Given the description of an element on the screen output the (x, y) to click on. 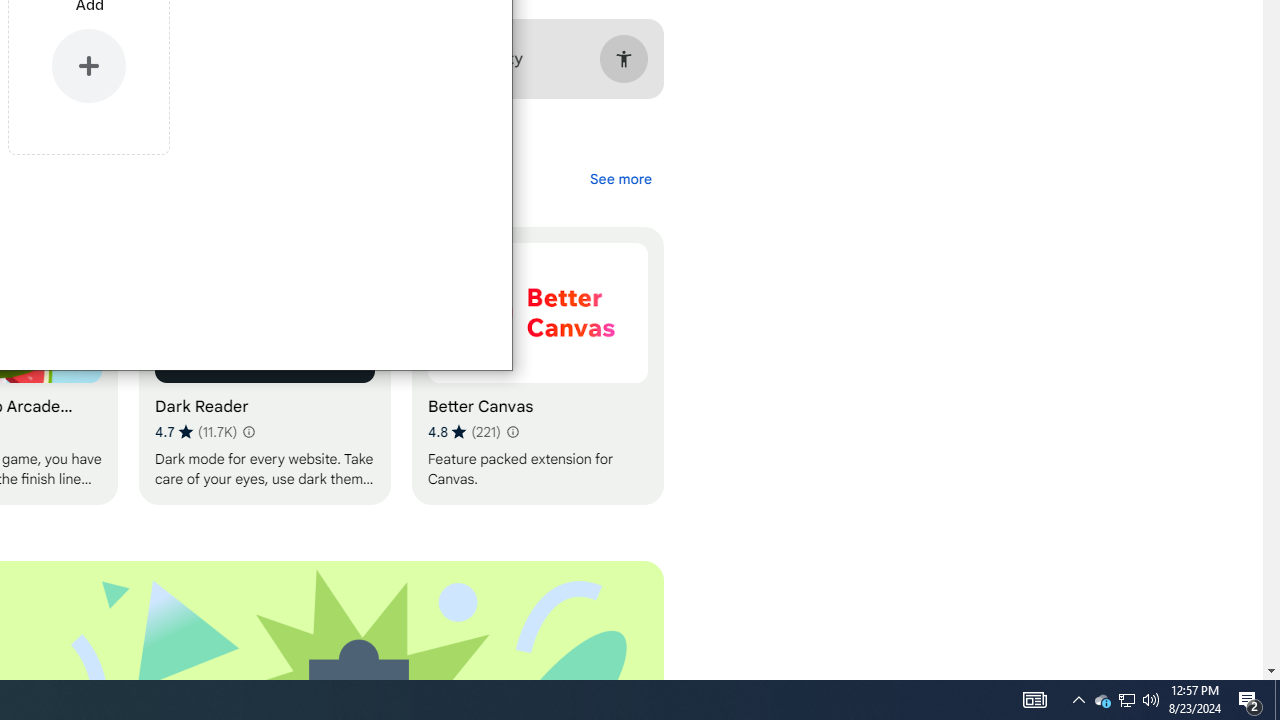
AutomationID: 4105 (1034, 699)
Learn more about results and reviews "Better Canvas" (511, 431)
Average rating 4.8 out of 5 stars. 221 ratings. (463, 431)
Q2790: 100% (1151, 699)
See more personalized recommendations (620, 178)
Notification Chevron (1078, 699)
Average rating 4.7 out of 5 stars. 11.7K ratings. (195, 431)
User Promoted Notification Area (1102, 699)
Learn more about results and reviews "Dark Reader" (1126, 699)
Show desktop (247, 431)
Action Center, 2 new notifications (1277, 699)
